Given the description of an element on the screen output the (x, y) to click on. 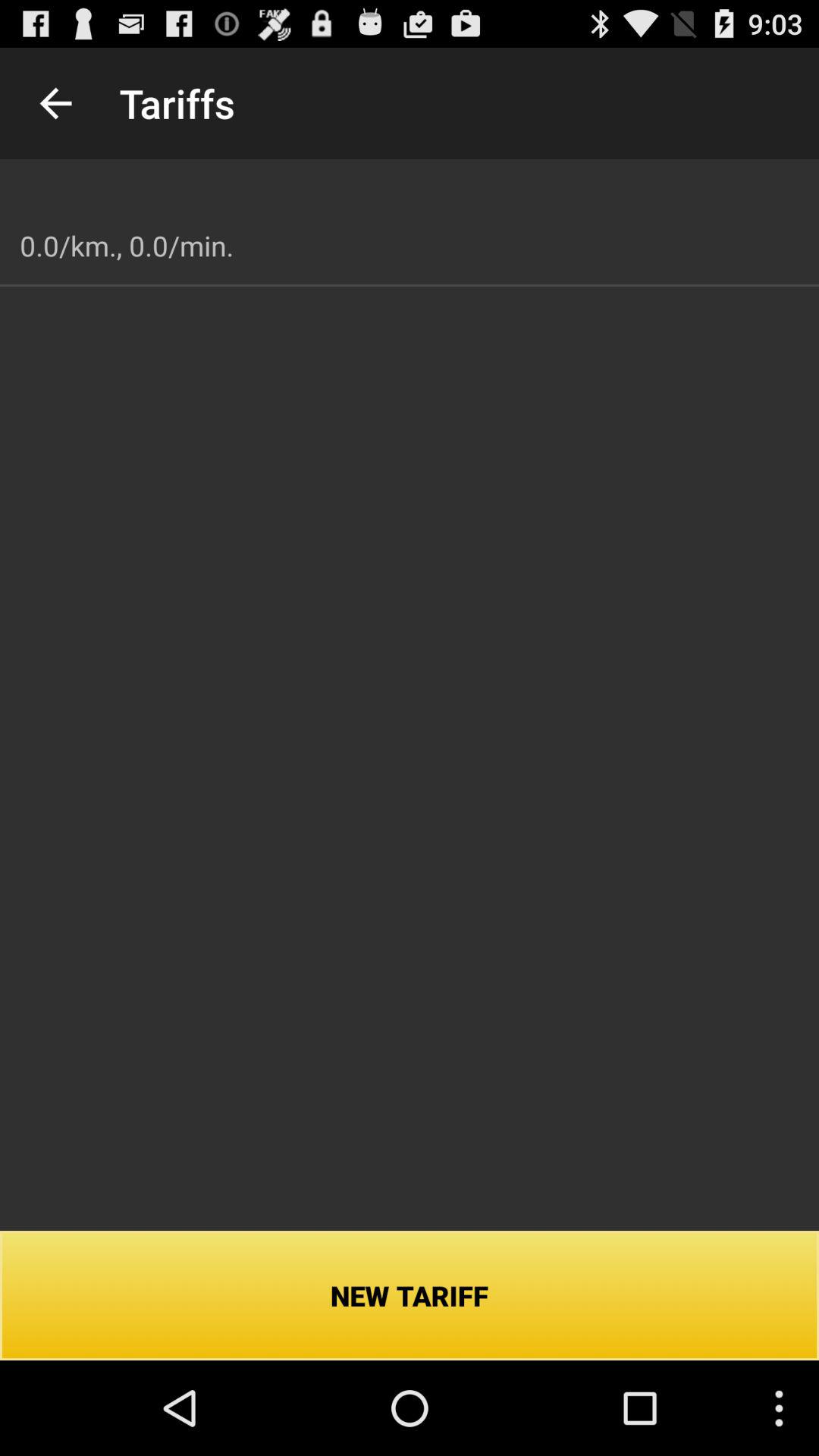
open the item above 0 0 km (55, 103)
